Given the description of an element on the screen output the (x, y) to click on. 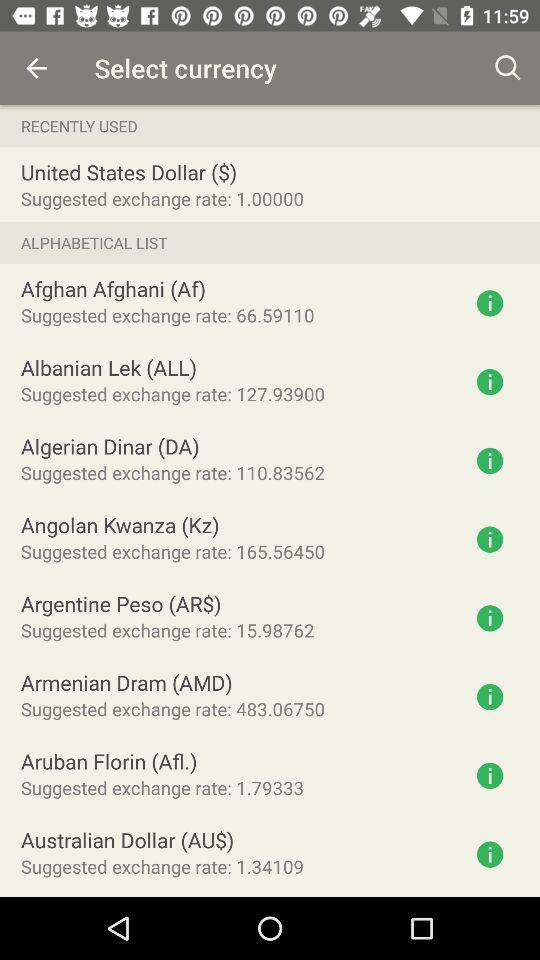
information (490, 382)
